Given the description of an element on the screen output the (x, y) to click on. 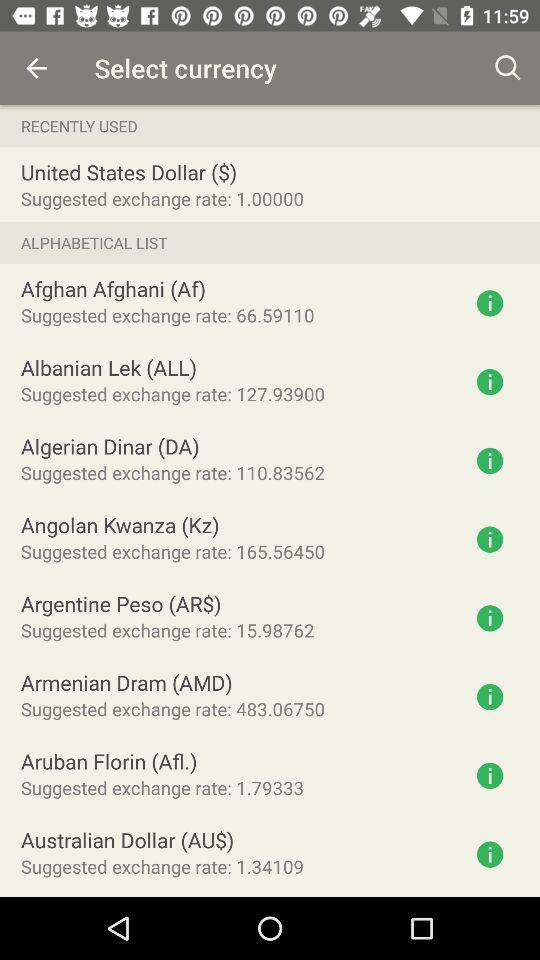
information (490, 382)
